Given the description of an element on the screen output the (x, y) to click on. 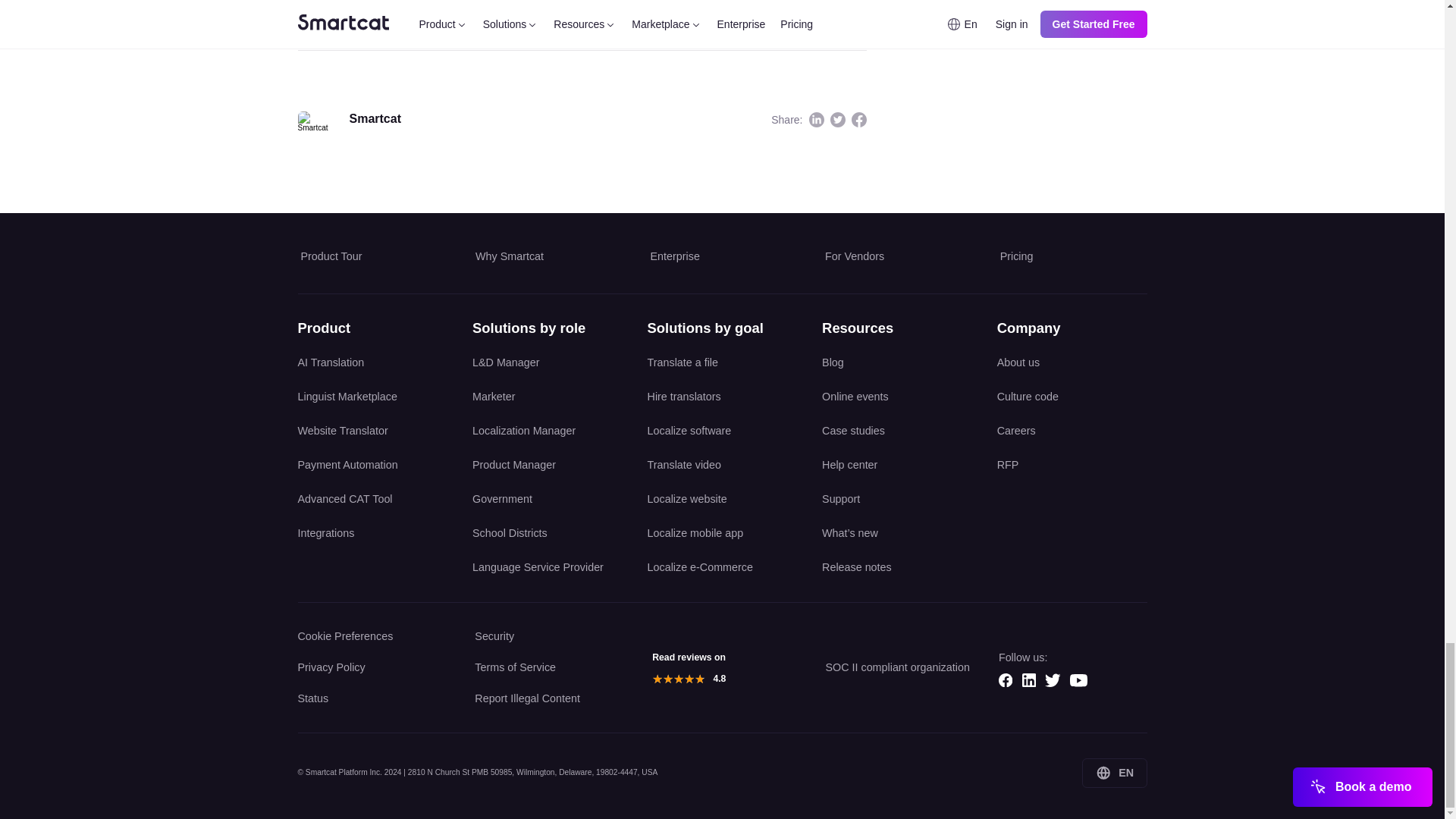
Enterprise (722, 256)
For Vendors (897, 256)
Pricing (1072, 256)
Product Tour (371, 256)
Why Smartcat (547, 256)
